Given the description of an element on the screen output the (x, y) to click on. 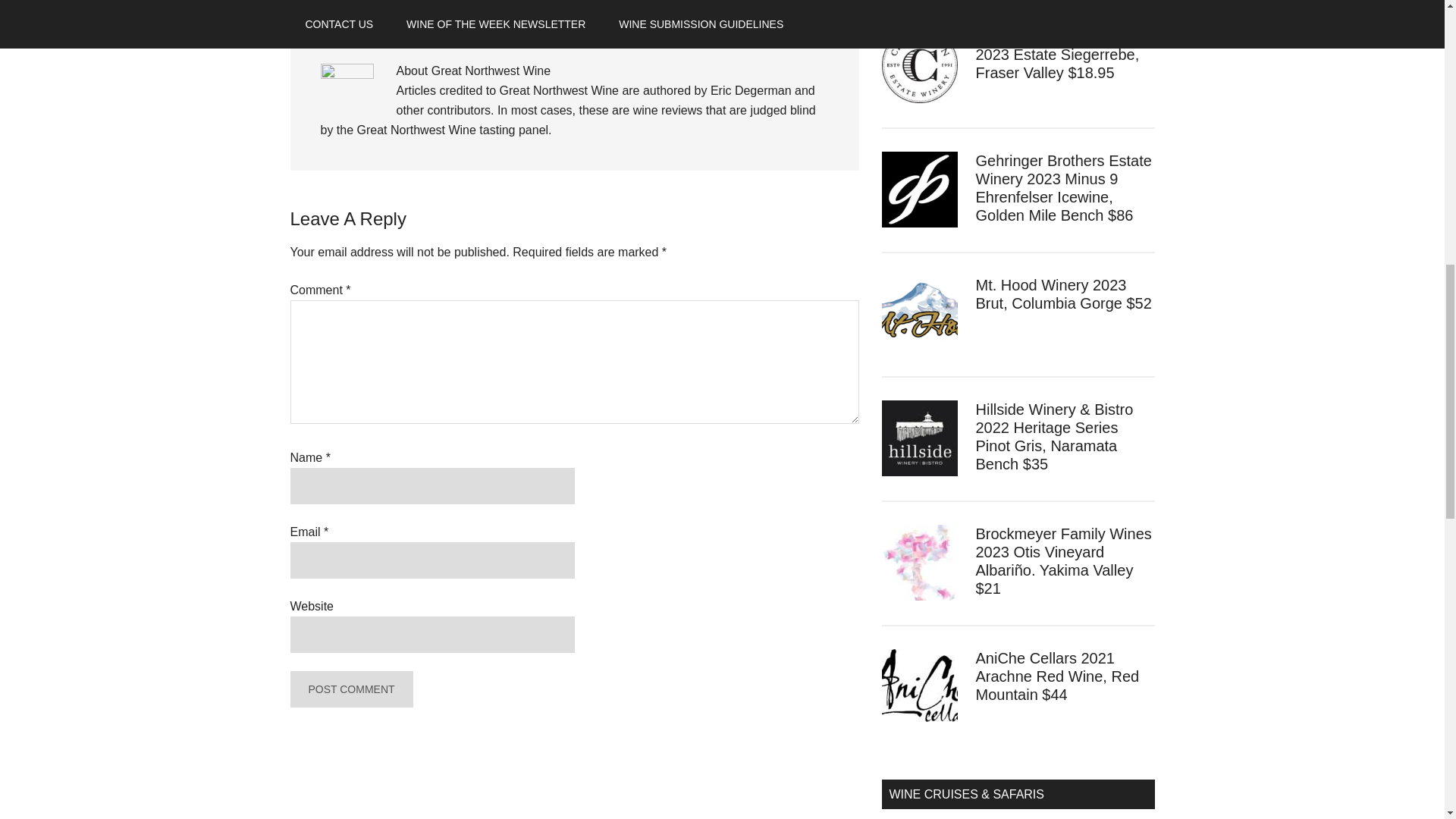
Post Comment (350, 688)
